Given the description of an element on the screen output the (x, y) to click on. 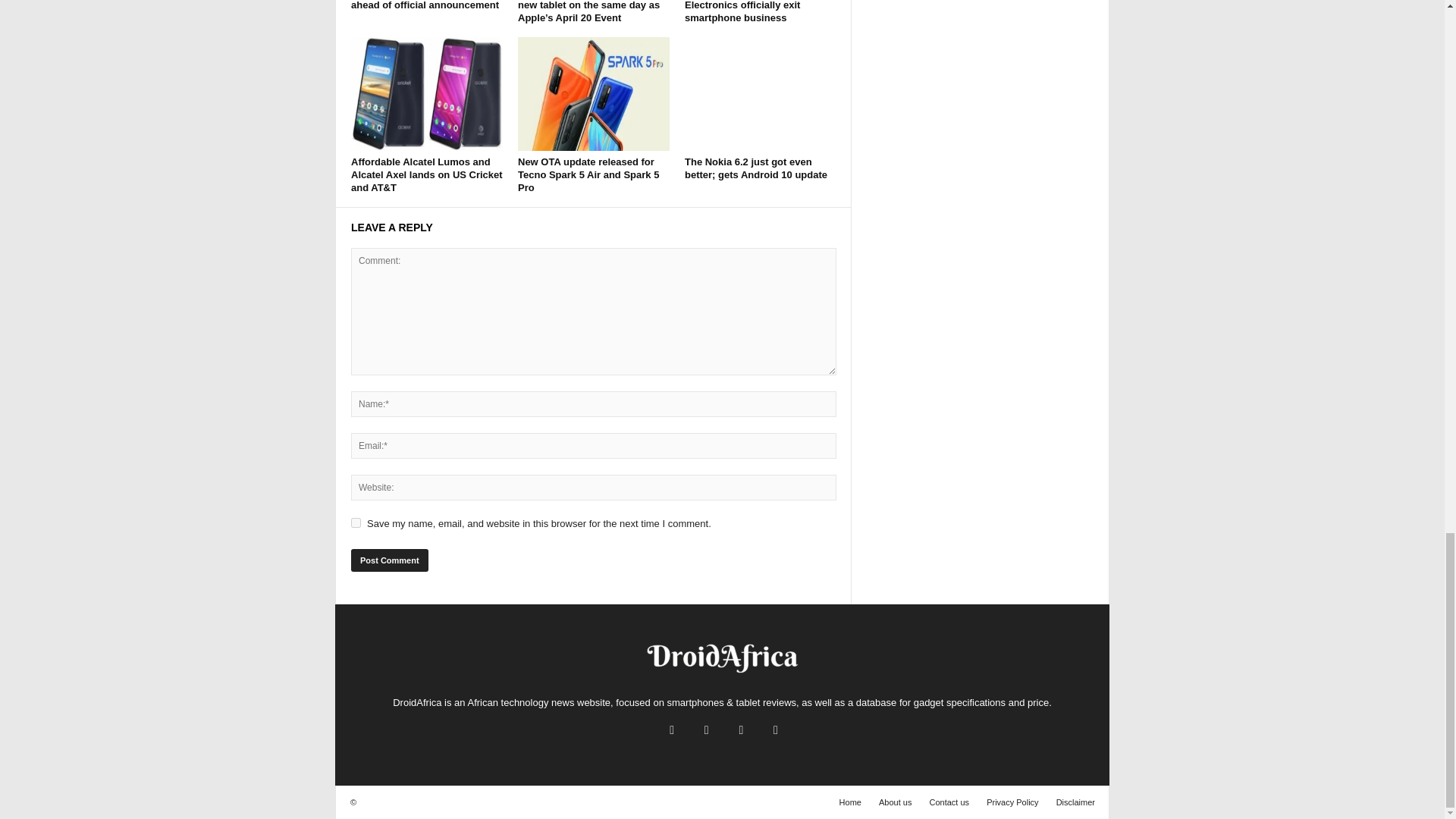
yes (355, 522)
Post Comment (389, 559)
